Given the description of an element on the screen output the (x, y) to click on. 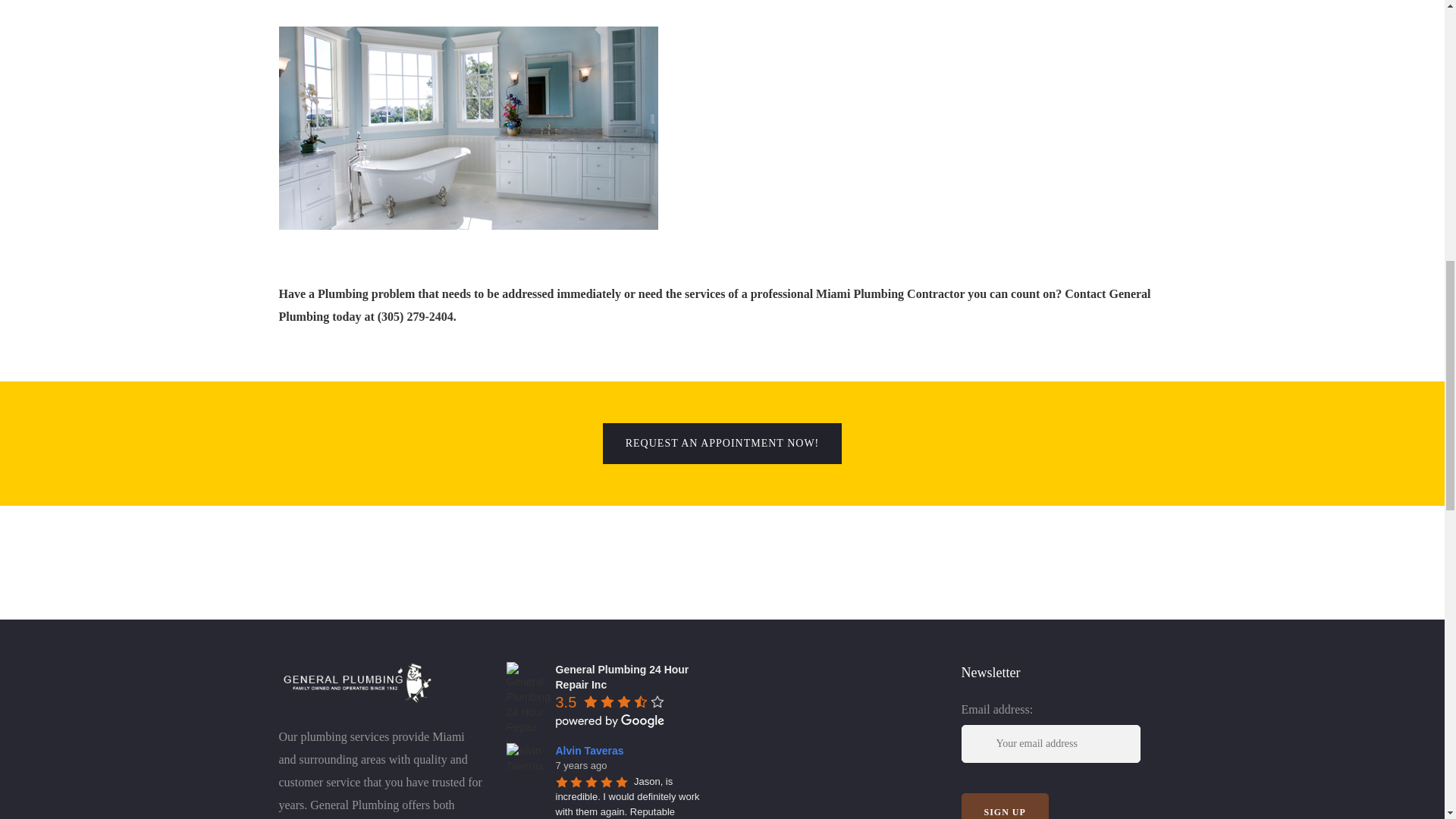
Sign up (1004, 806)
